Given the description of an element on the screen output the (x, y) to click on. 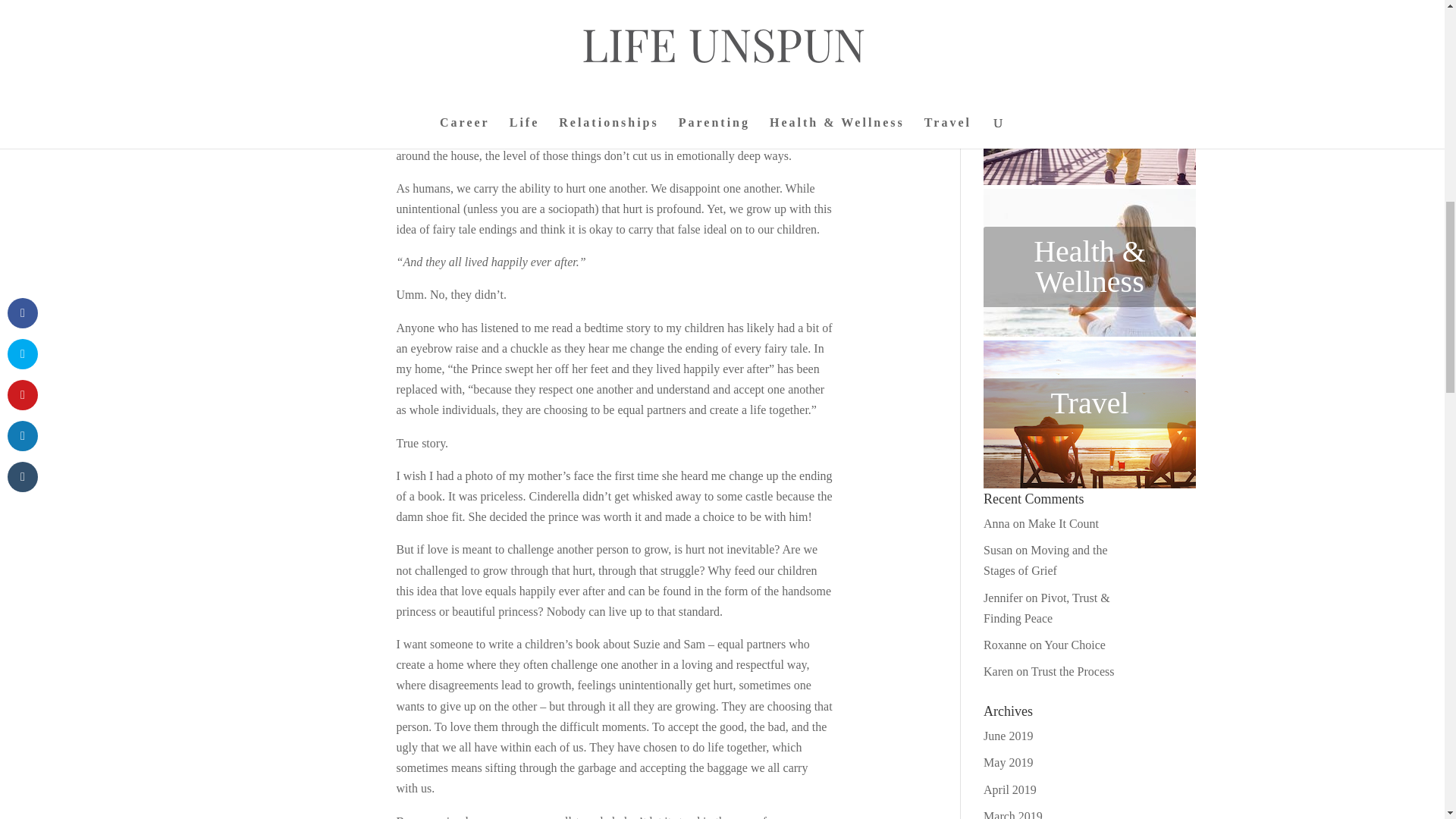
Moving and the Stages of Grief (1046, 560)
Make It Count (1063, 522)
May 2019 (1008, 762)
Trust the Process (1072, 671)
June 2019 (1008, 735)
Anna (997, 522)
Your Choice (1074, 644)
